Given the description of an element on the screen output the (x, y) to click on. 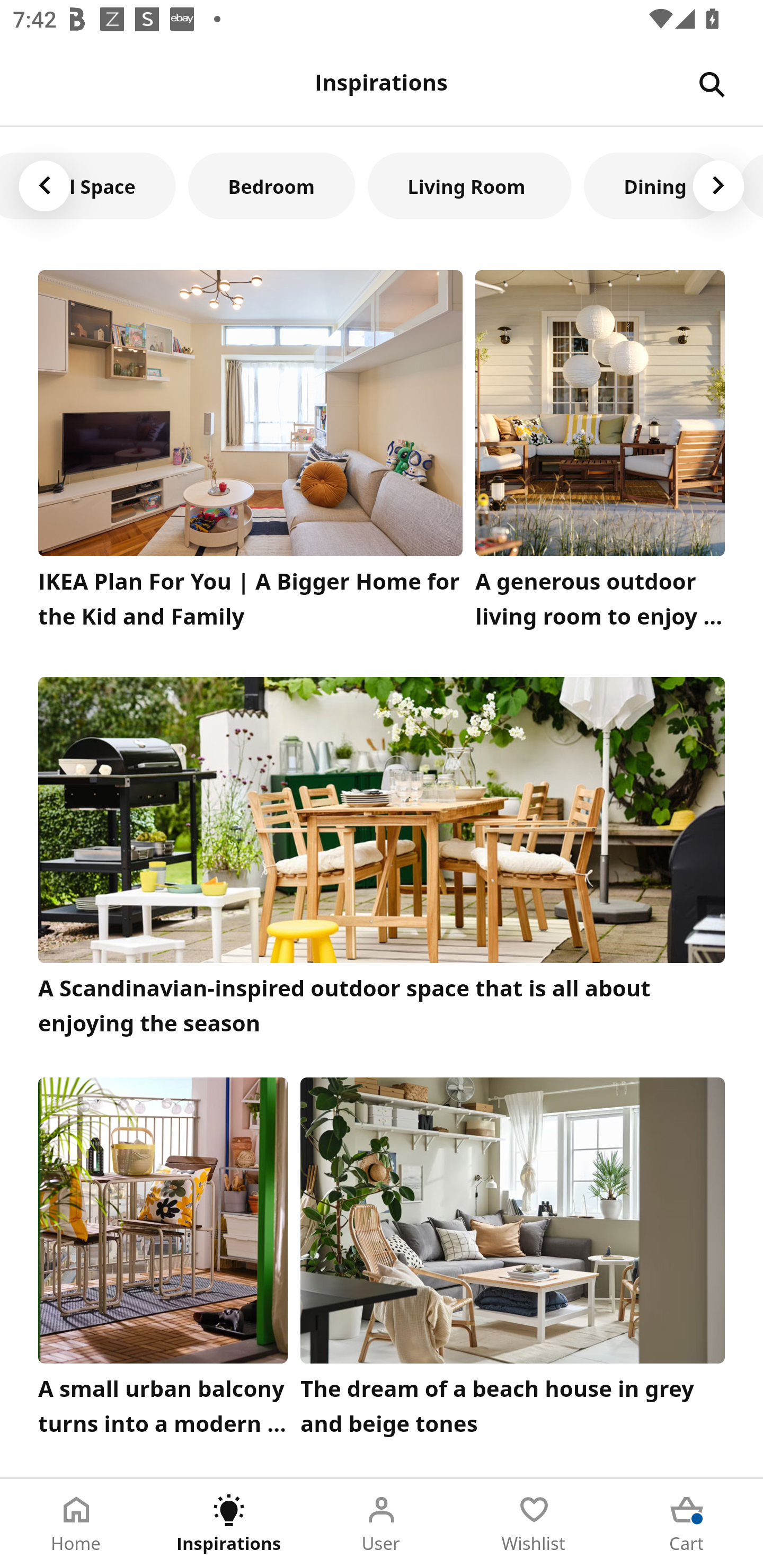
Bedroom (271, 185)
Living Room  (469, 185)
Dining (655, 185)
The dream of a beach house in grey and beige tones (512, 1261)
Home
Tab 1 of 5 (76, 1522)
Inspirations
Tab 2 of 5 (228, 1522)
User
Tab 3 of 5 (381, 1522)
Wishlist
Tab 4 of 5 (533, 1522)
Cart
Tab 5 of 5 (686, 1522)
